Given the description of an element on the screen output the (x, y) to click on. 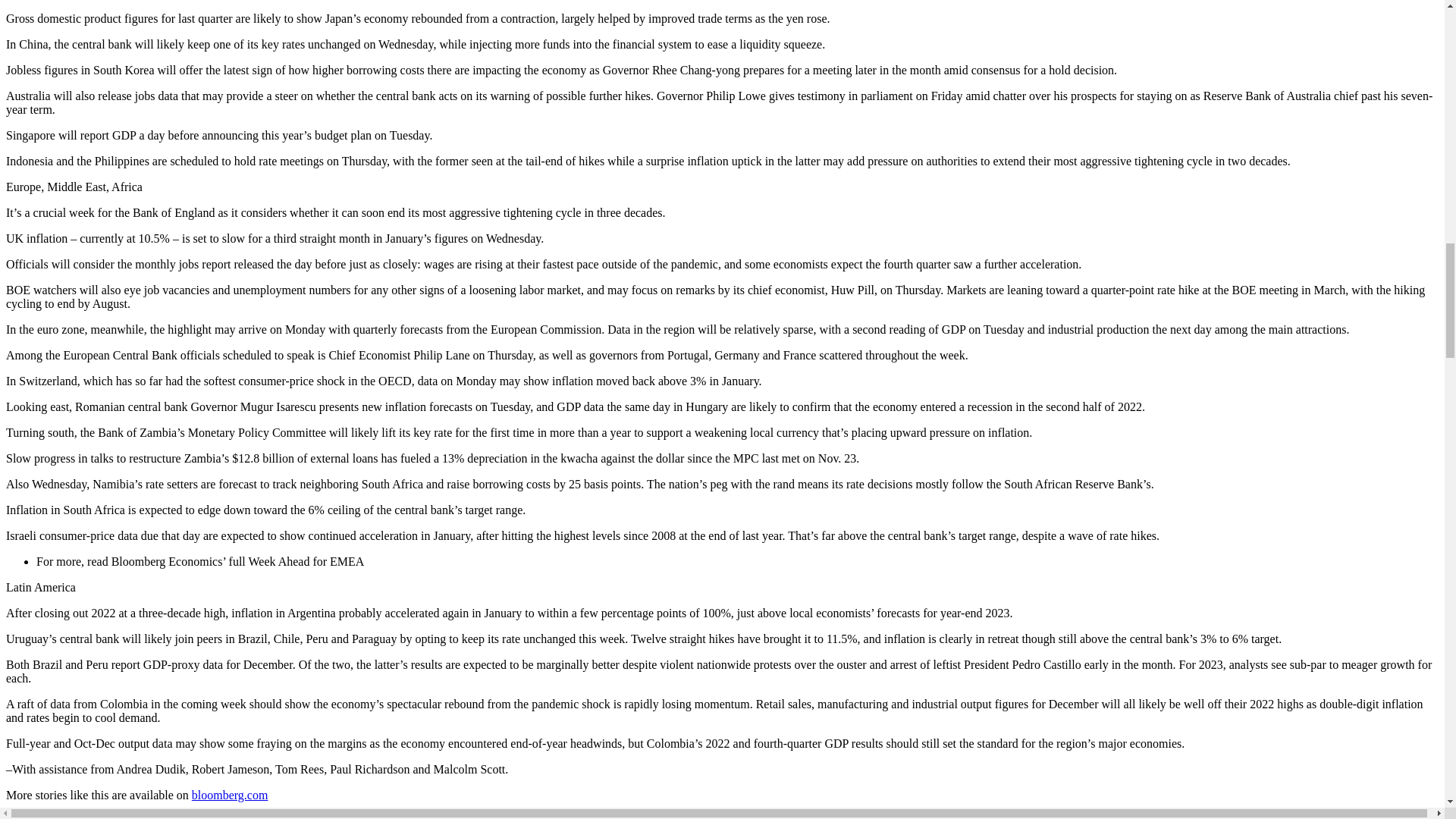
bloomberg.com (229, 794)
